Given the description of an element on the screen output the (x, y) to click on. 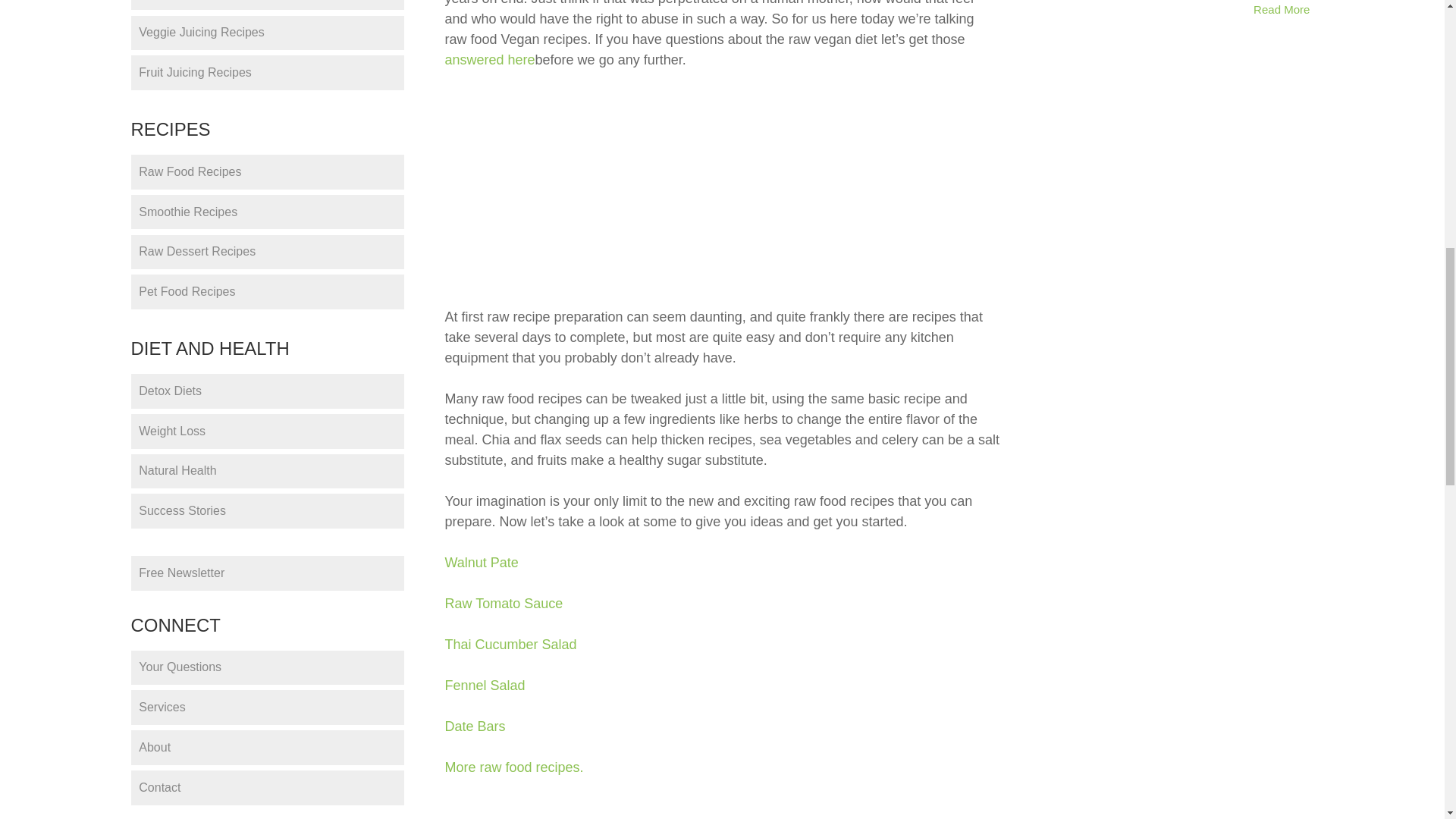
Walnut Pate (481, 562)
answered here (489, 59)
Thai Cucumber Salad (510, 644)
Fennel Salad (484, 685)
Raw Tomato Sauce (503, 603)
Date Bars (474, 726)
More raw food recipes. (513, 767)
Advertisement (790, 185)
